Given the description of an element on the screen output the (x, y) to click on. 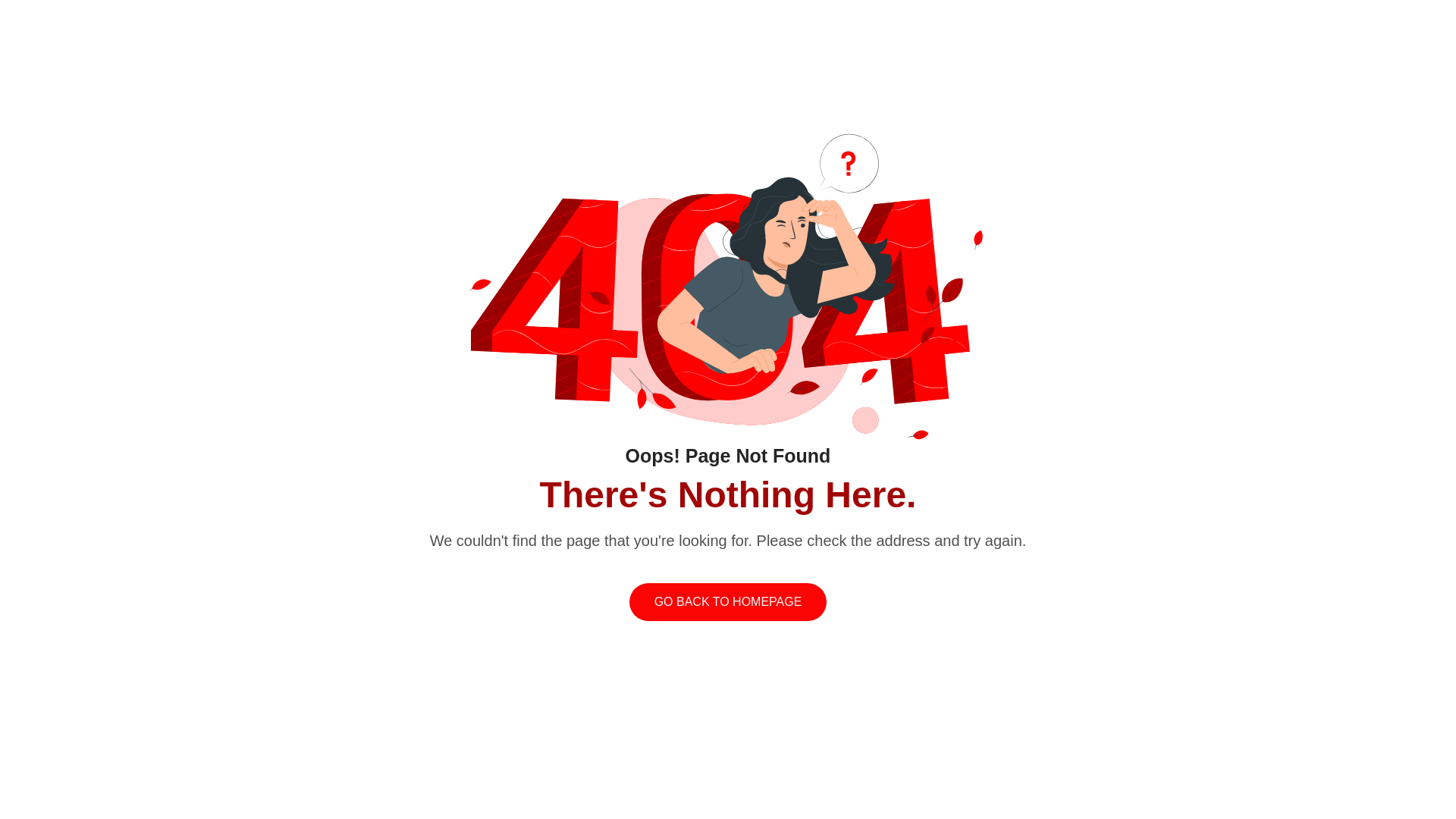
GO BACK TO HOMEPAGE (727, 601)
